Given the description of an element on the screen output the (x, y) to click on. 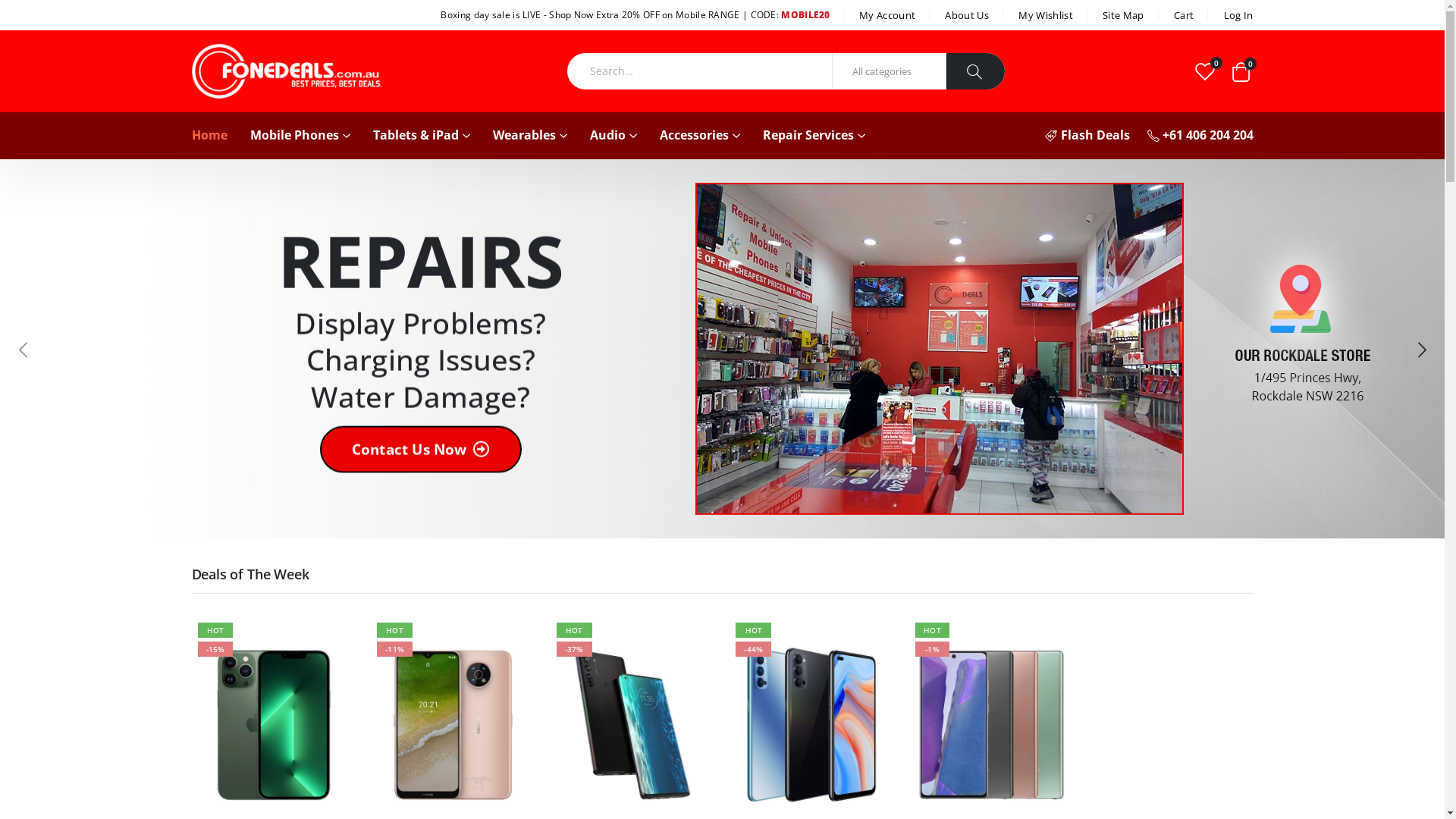
0 Element type: text (1205, 70)
Log In Element type: text (1238, 14)
+61 406 204 204 Element type: text (1198, 135)
About Us Element type: text (968, 14)
Repair Services Element type: text (813, 135)
My Wishlist Element type: text (1046, 14)
Contact Us Now Element type: text (420, 449)
Site Map Element type: text (1124, 14)
Audio Element type: text (613, 135)
Accessories Element type: text (699, 135)
Home Element type: text (208, 135)
Tablets & iPad Element type: text (421, 135)
Cart Element type: text (1185, 14)
Wearables Element type: text (529, 135)
My Account Element type: text (889, 14)
Mobile Phones Element type: text (300, 135)
Flash Deals Element type: text (1086, 135)
Search Element type: hover (975, 71)
